Given the description of an element on the screen output the (x, y) to click on. 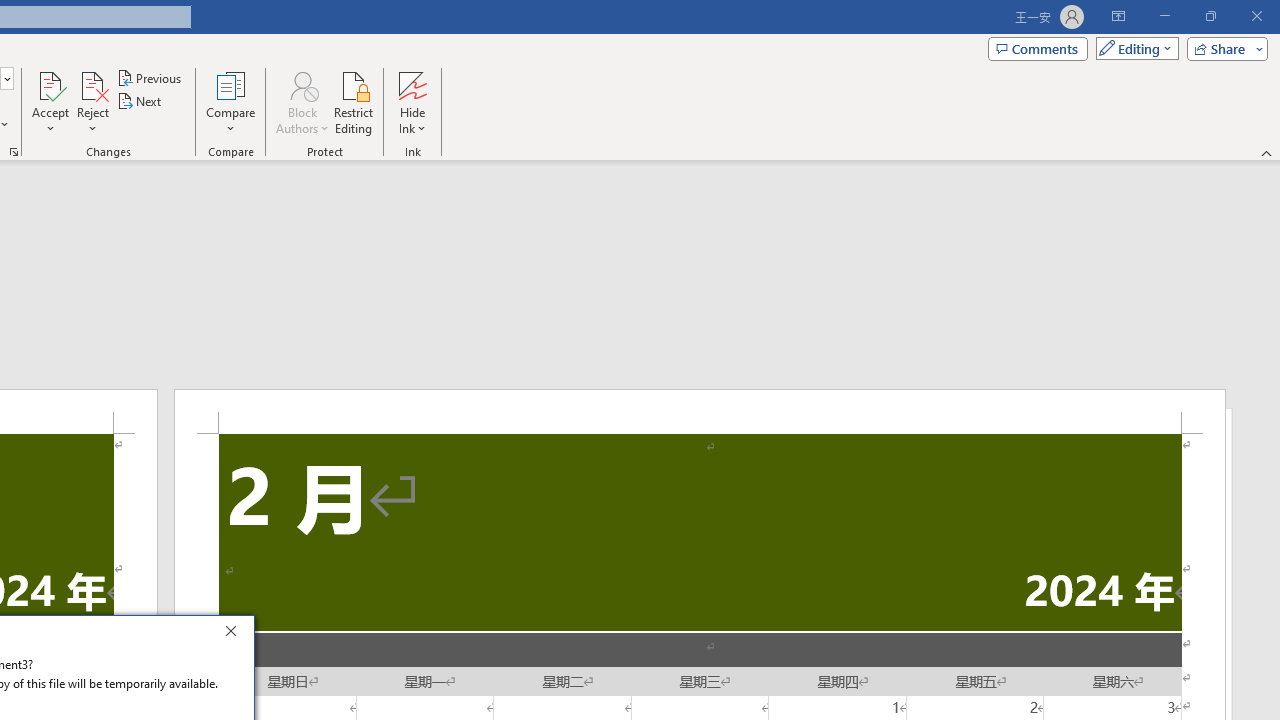
Open (6, 78)
Hide Ink (412, 102)
Header -Section 2- (700, 411)
Reject (92, 102)
More Options (412, 121)
Hide Ink (412, 84)
Reject and Move to Next (92, 84)
Mode (1133, 47)
Compare (230, 102)
Close (236, 633)
Minimize (1164, 16)
Accept and Move to Next (50, 84)
Next (140, 101)
